Given the description of an element on the screen output the (x, y) to click on. 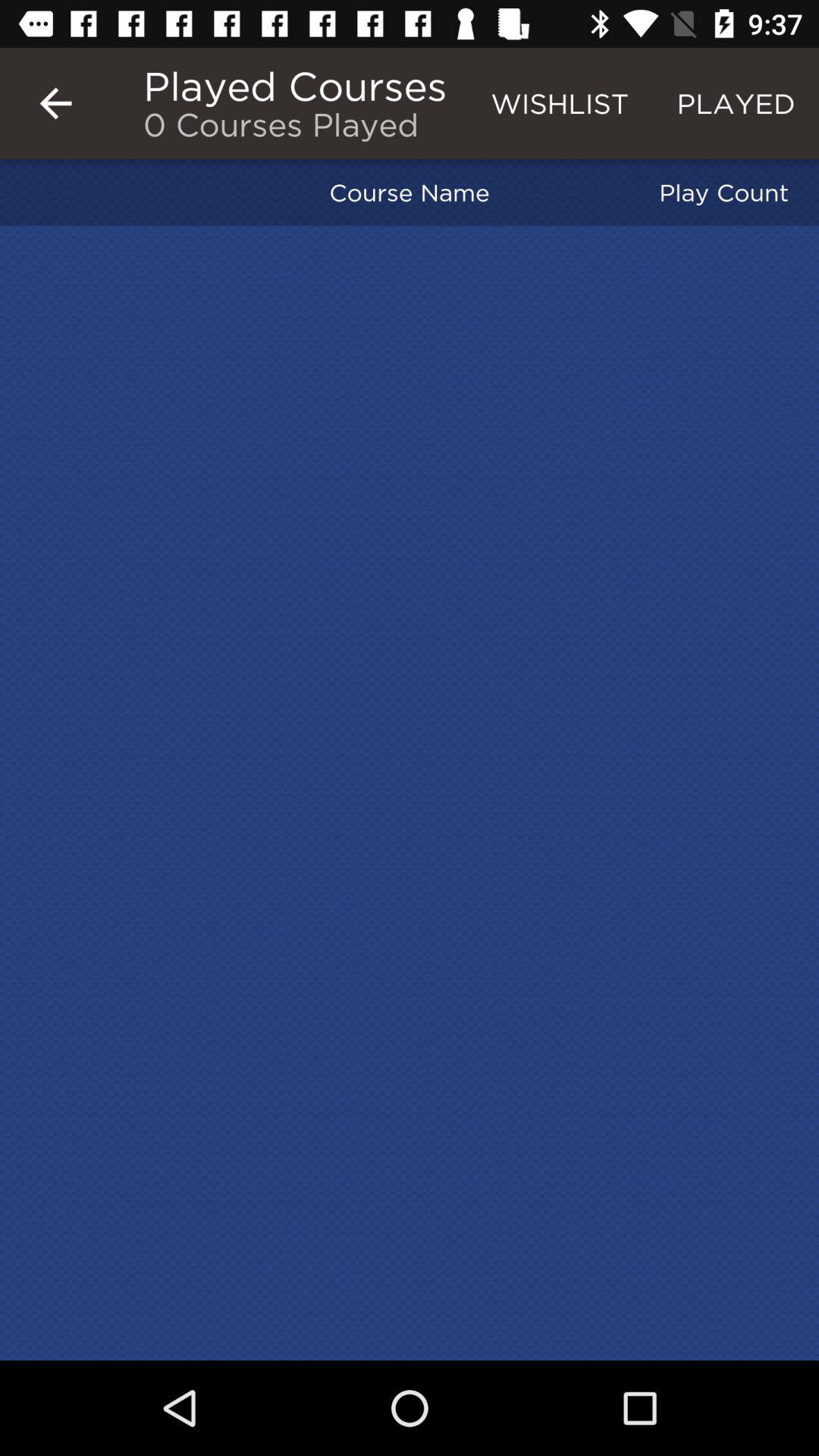
select the icon next to the played courses item (559, 103)
